Given the description of an element on the screen output the (x, y) to click on. 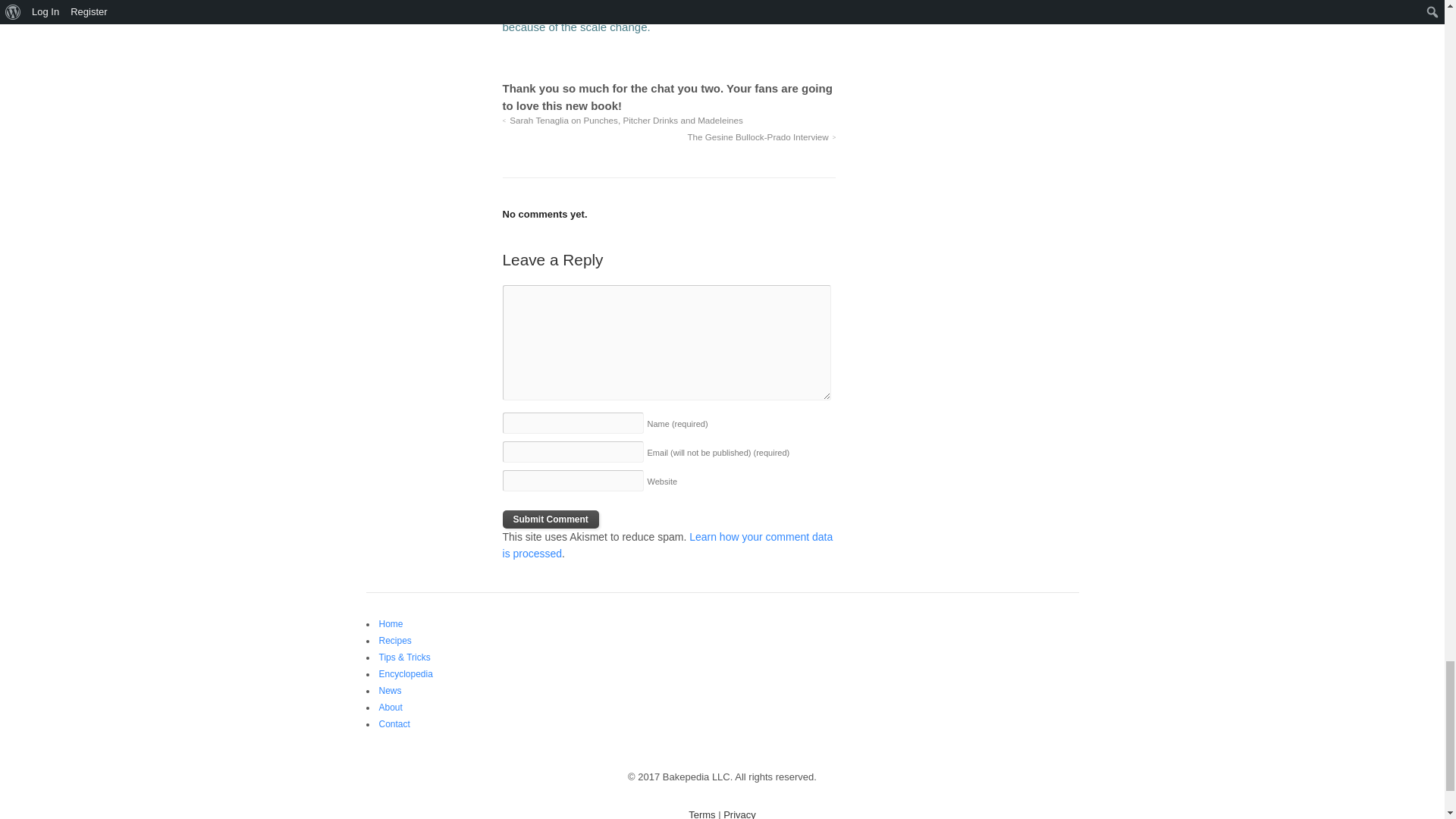
Sarah Tenaglia on Punches, Pitcher Drinks and Madeleines (622, 120)
Submit Comment (550, 519)
Home (390, 624)
The Gesine Bullock-Prado Interview (761, 136)
Recipes (395, 640)
Submit Comment (550, 519)
Learn how your comment data is processed (667, 544)
